Given the description of an element on the screen output the (x, y) to click on. 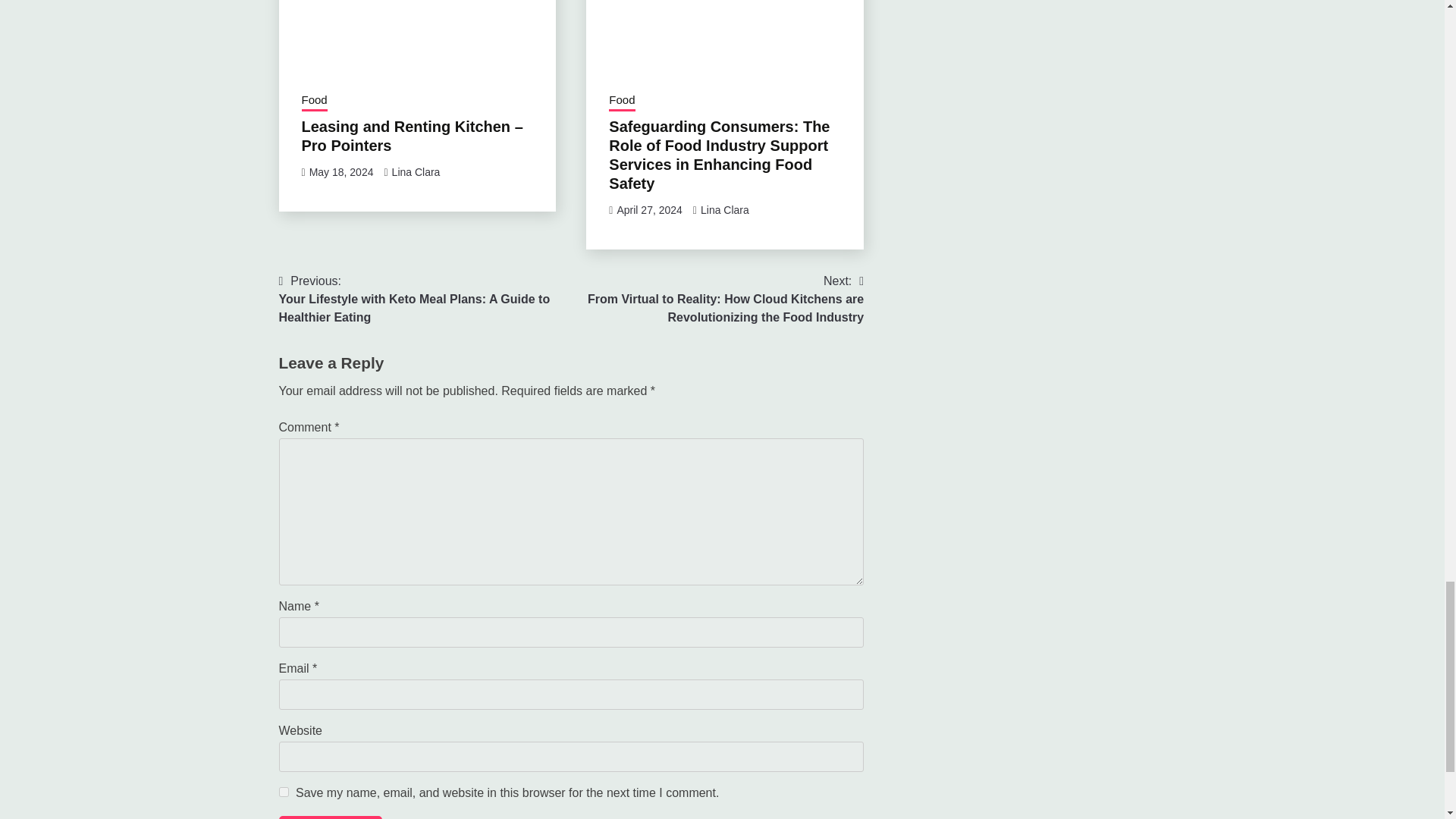
Food (621, 101)
Lina Clara (724, 209)
Food (314, 101)
May 18, 2024 (341, 172)
yes (283, 791)
Post Comment (330, 817)
Post Comment (330, 817)
